Given the description of an element on the screen output the (x, y) to click on. 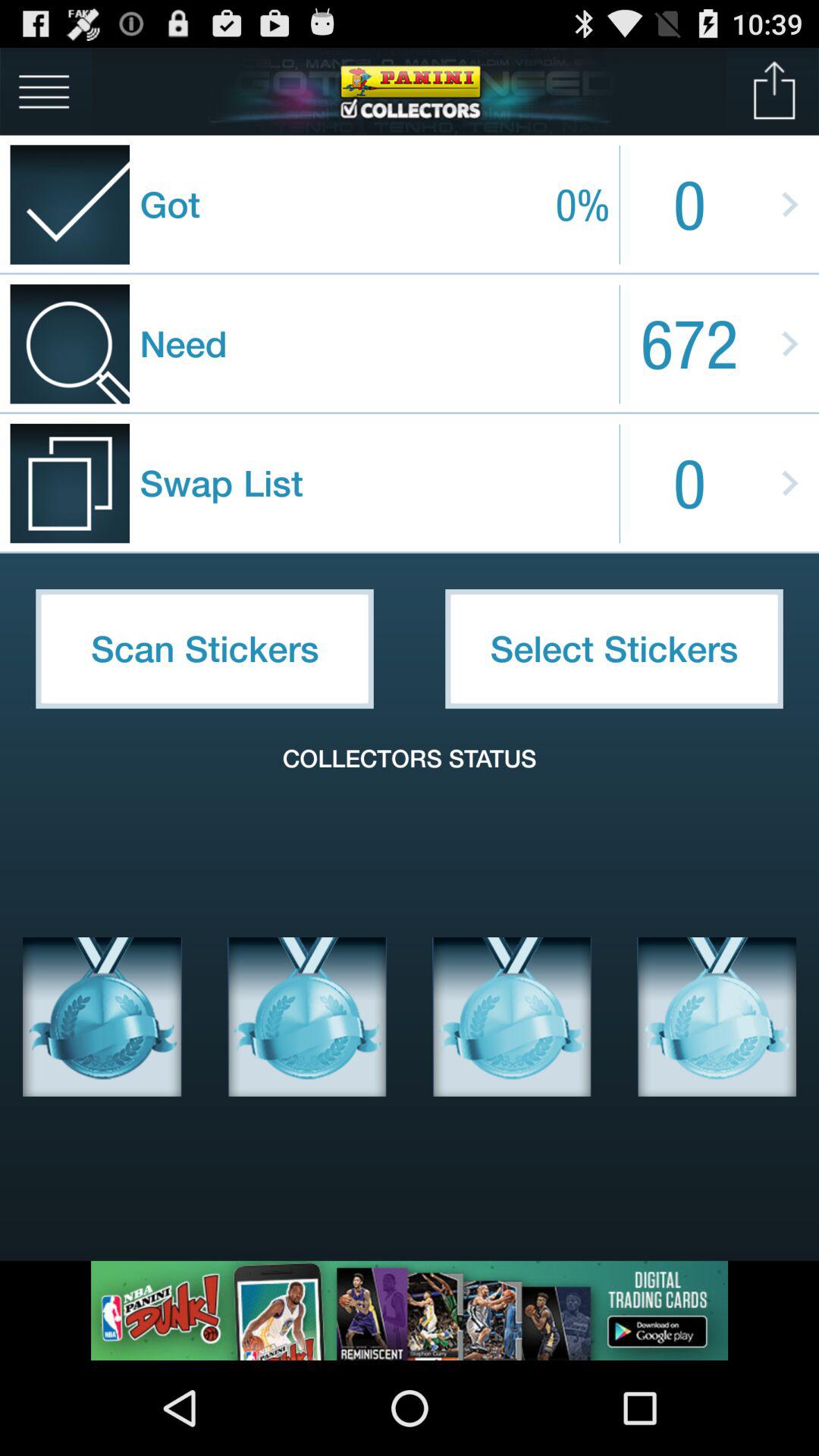
tap the item to the right of the scan stickers item (614, 648)
